Given the description of an element on the screen output the (x, y) to click on. 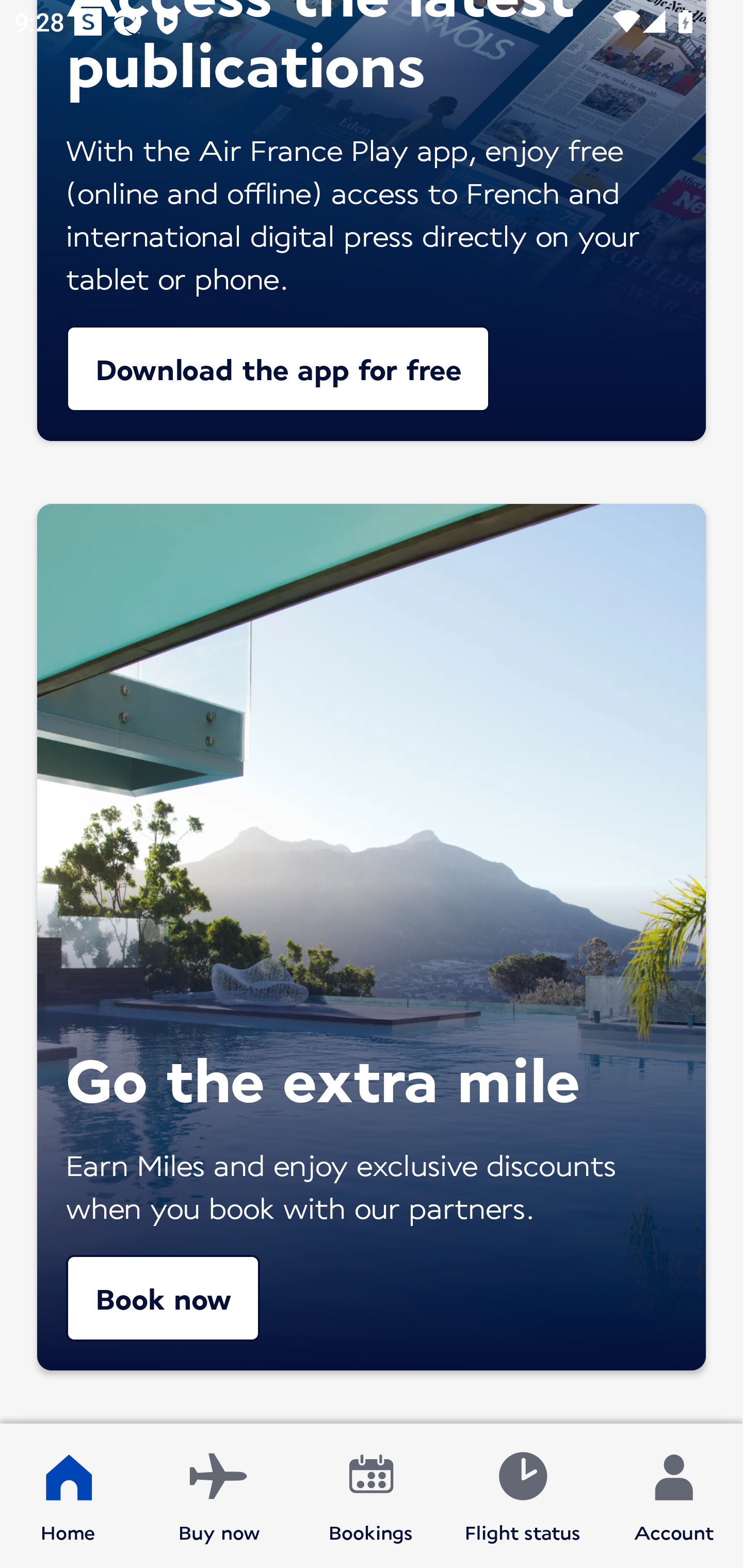
Buy now (219, 1495)
Bookings (370, 1495)
Flight status (522, 1495)
Account (674, 1495)
